Given the description of an element on the screen output the (x, y) to click on. 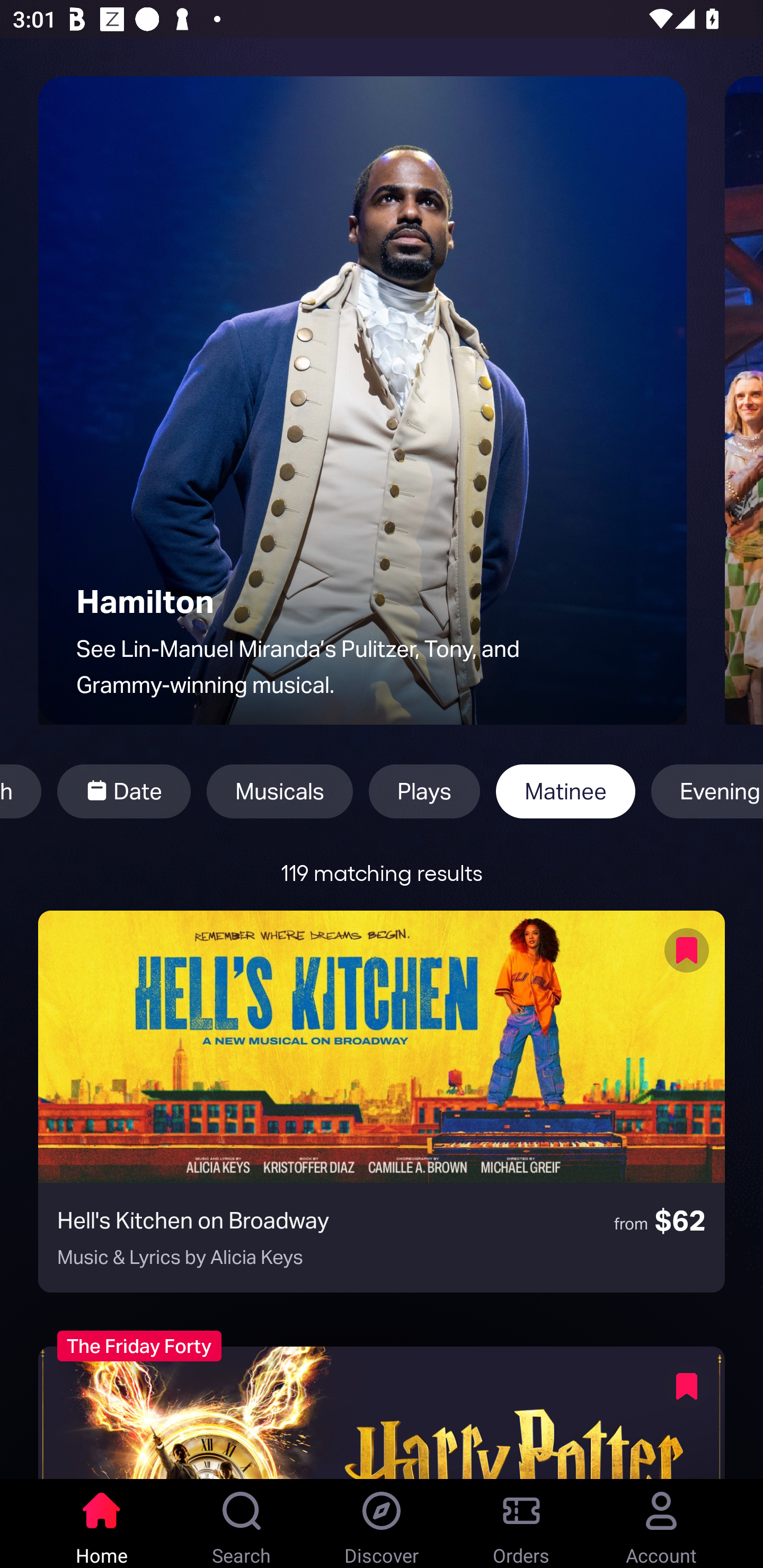
Date (123, 791)
Musicals (279, 791)
Plays (423, 791)
Matinee (565, 791)
Search (241, 1523)
Discover (381, 1523)
Orders (521, 1523)
Account (660, 1523)
